Given the description of an element on the screen output the (x, y) to click on. 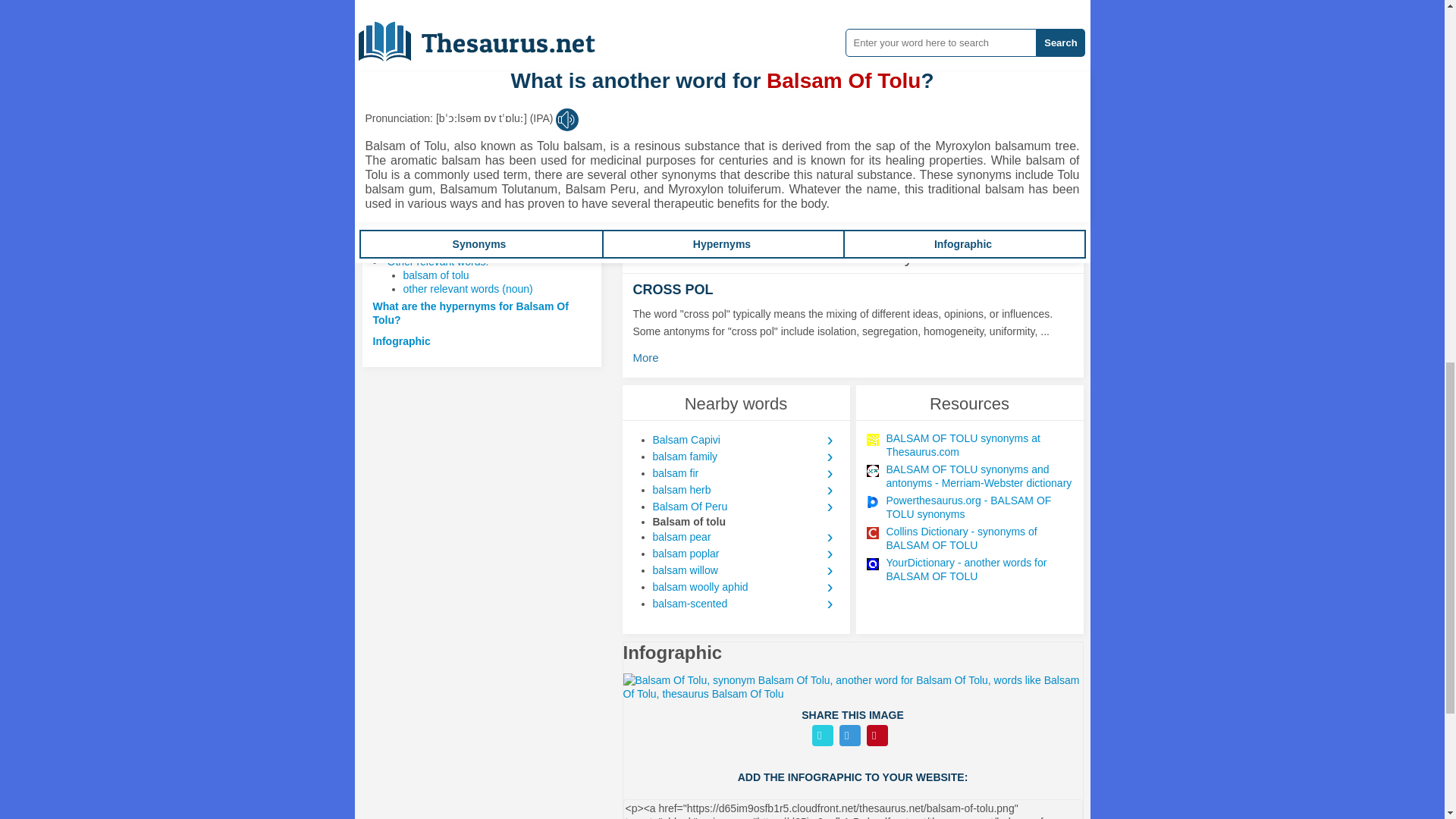
BALSAM OF TOLU synonyms at Thesaurus.com (978, 444)
Powerthesaurus.org - BALSAM OF TOLU synonyms (978, 506)
What is another word for Balsam Of Tolu? (478, 218)
Balsam Capivi (745, 439)
balsam willow (745, 569)
balsam woolly aphid (745, 586)
Balsam Of Peru (745, 506)
Synonyms for Balsam of tolu (735, 10)
balsam (679, 58)
